Given the description of an element on the screen output the (x, y) to click on. 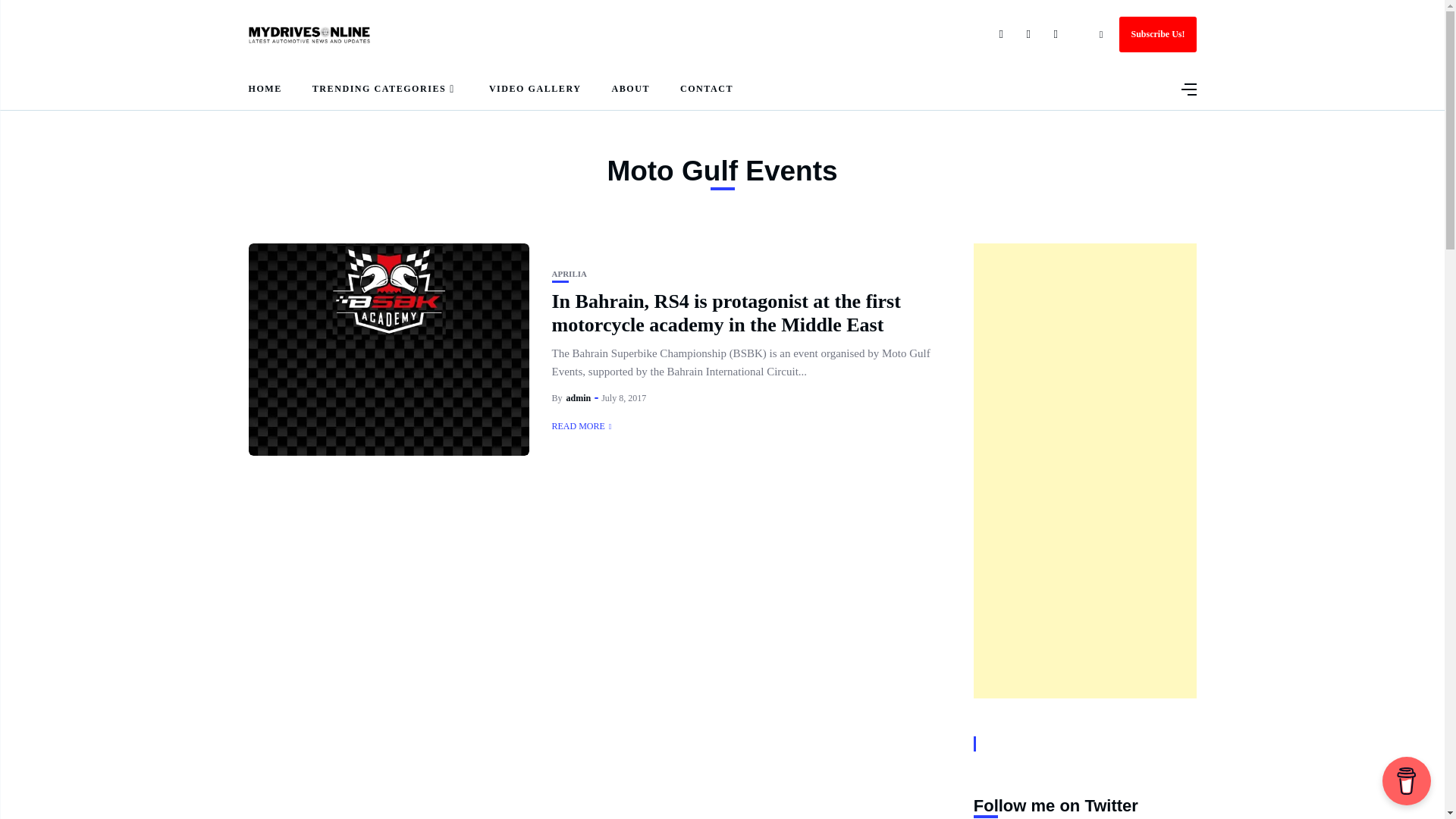
Posts by admin (578, 398)
